Given the description of an element on the screen output the (x, y) to click on. 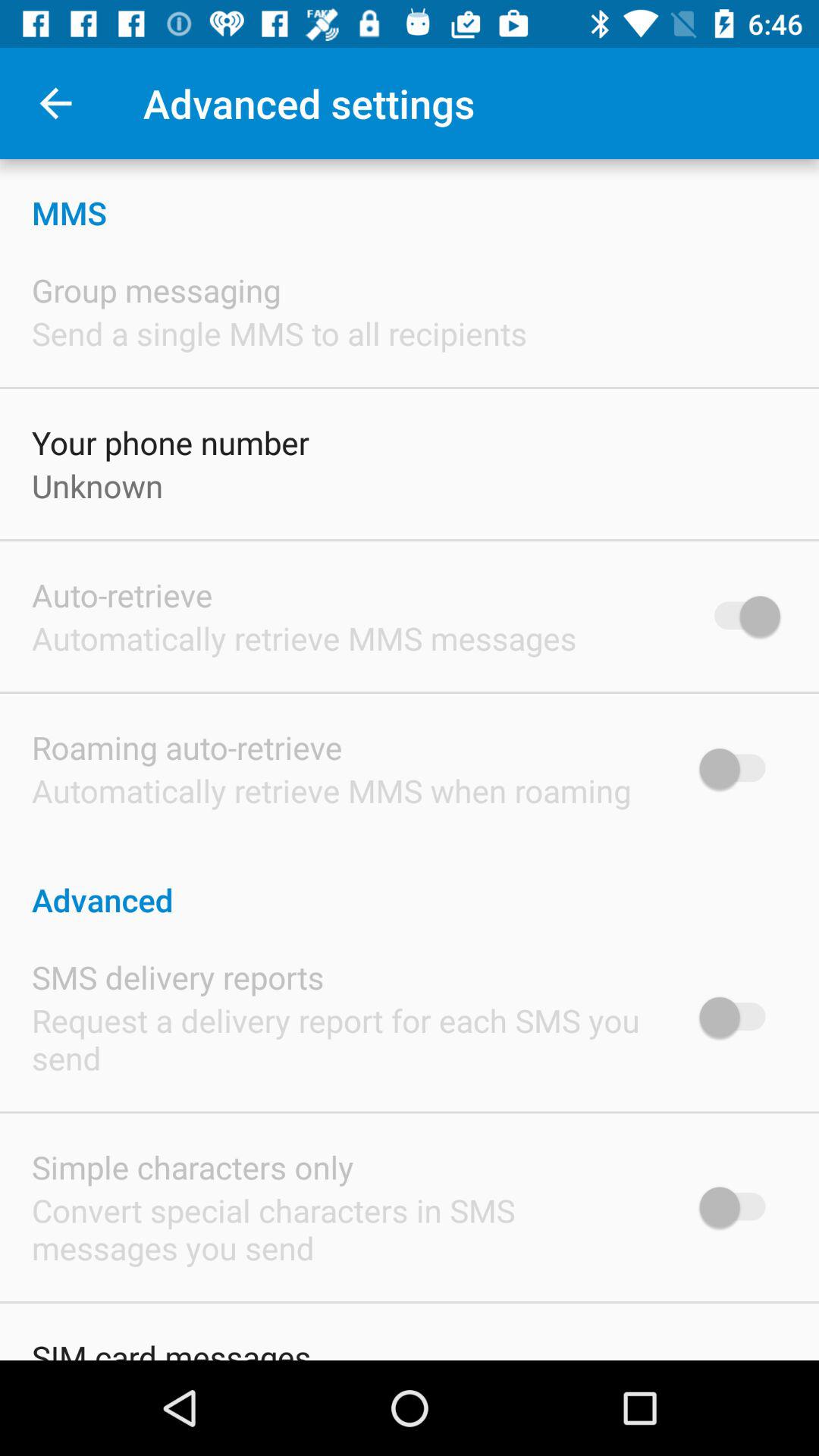
select item above mms item (55, 103)
